Given the description of an element on the screen output the (x, y) to click on. 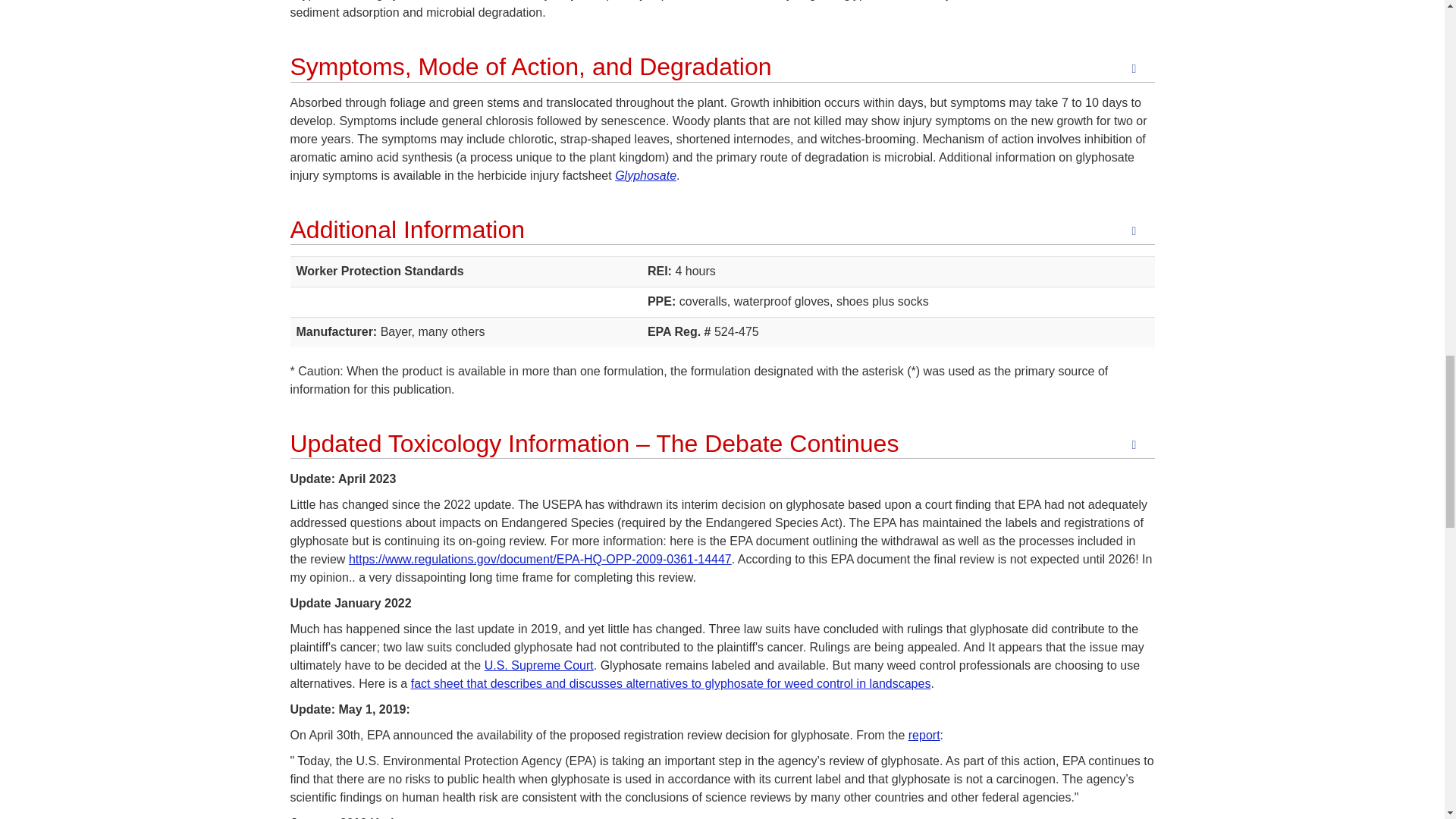
Glyphosate (645, 174)
report (924, 735)
U.S. Supreme Court (539, 665)
